Given the description of an element on the screen output the (x, y) to click on. 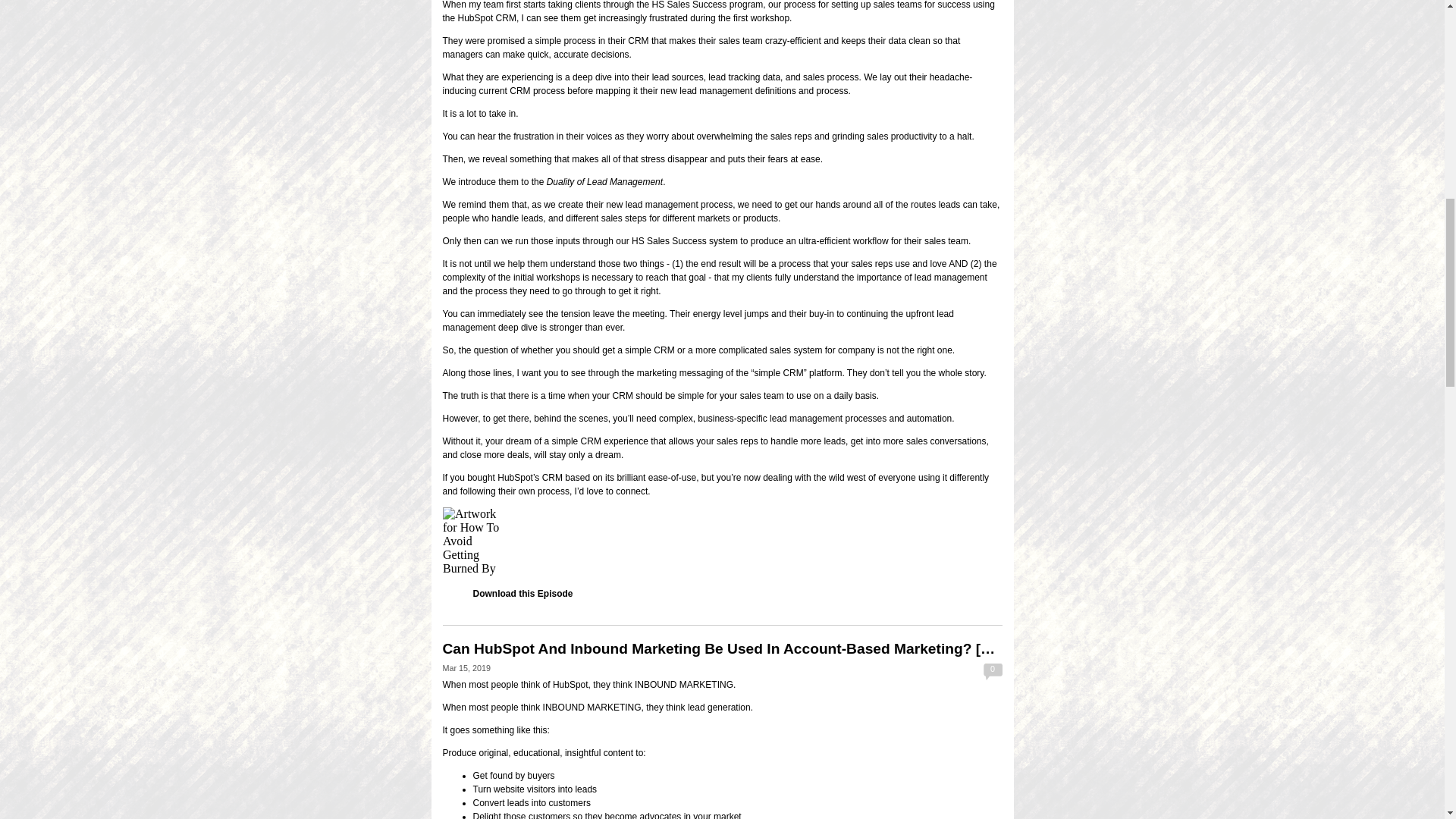
Libsyn Player (722, 540)
